Given the description of an element on the screen output the (x, y) to click on. 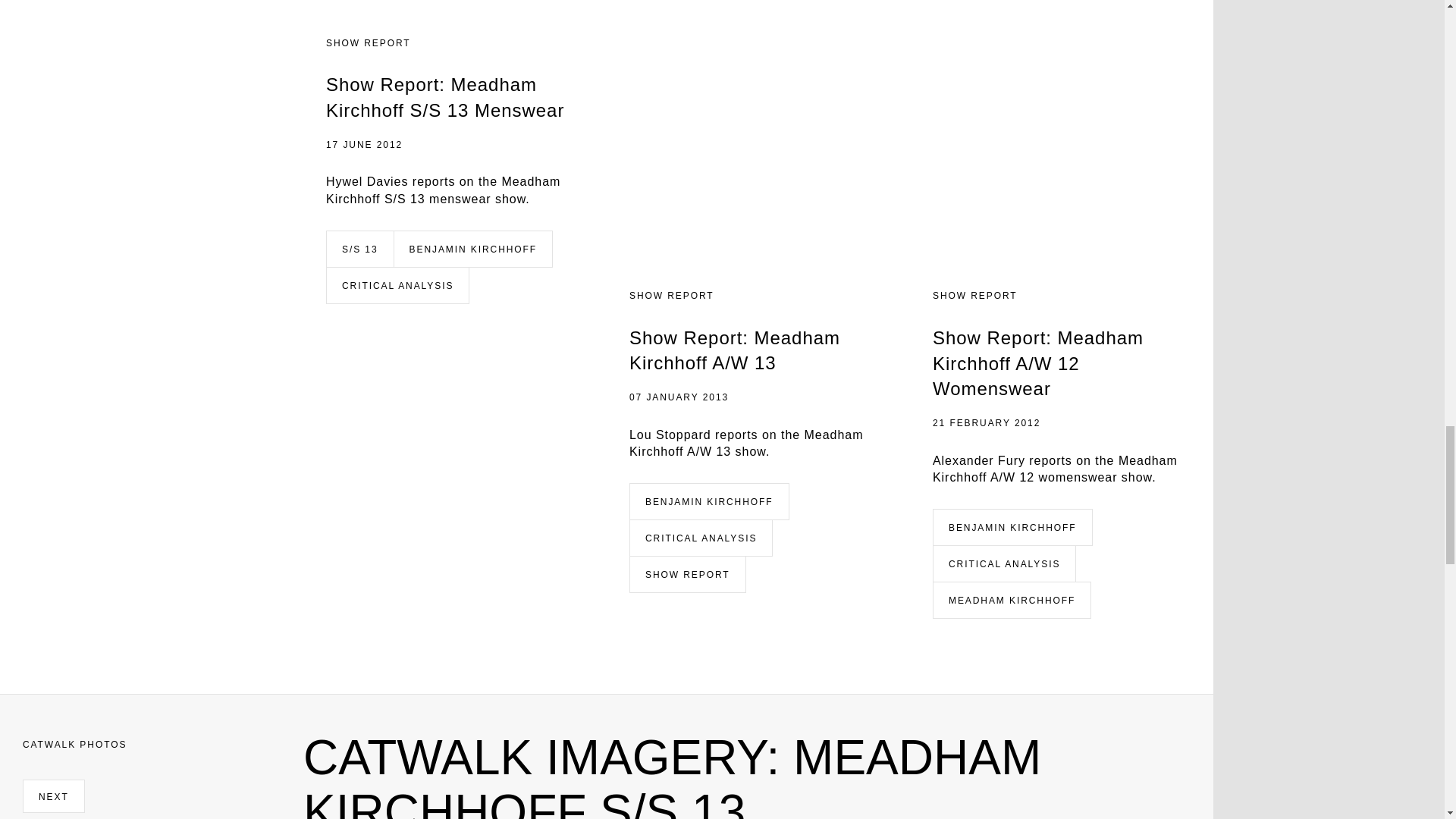
CRITICAL ANALYSIS (397, 284)
CRITICAL ANALYSIS (1004, 562)
BENJAMIN KIRCHHOFF (473, 247)
BENJAMIN KIRCHHOFF (708, 500)
BENJAMIN KIRCHHOFF (1012, 526)
CRITICAL ANALYSIS (699, 536)
SHOW REPORT (686, 573)
